Given the description of an element on the screen output the (x, y) to click on. 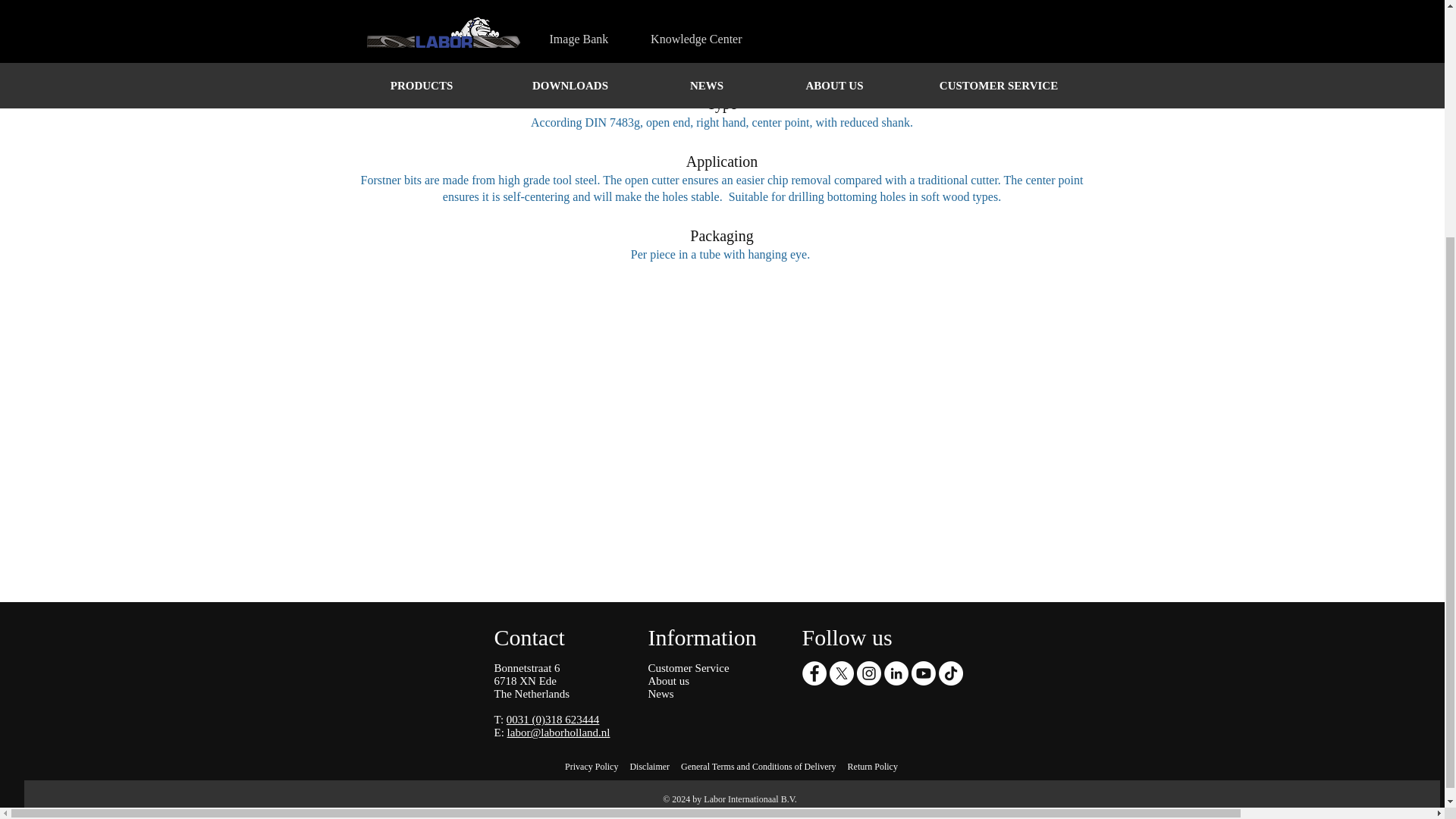
Customer Service (688, 667)
General Terms and Conditions of Delivery (758, 766)
Contact (529, 637)
News (659, 693)
Privacy Policy (590, 766)
Disclaimer (648, 766)
Information (701, 637)
About us (667, 680)
